Given the description of an element on the screen output the (x, y) to click on. 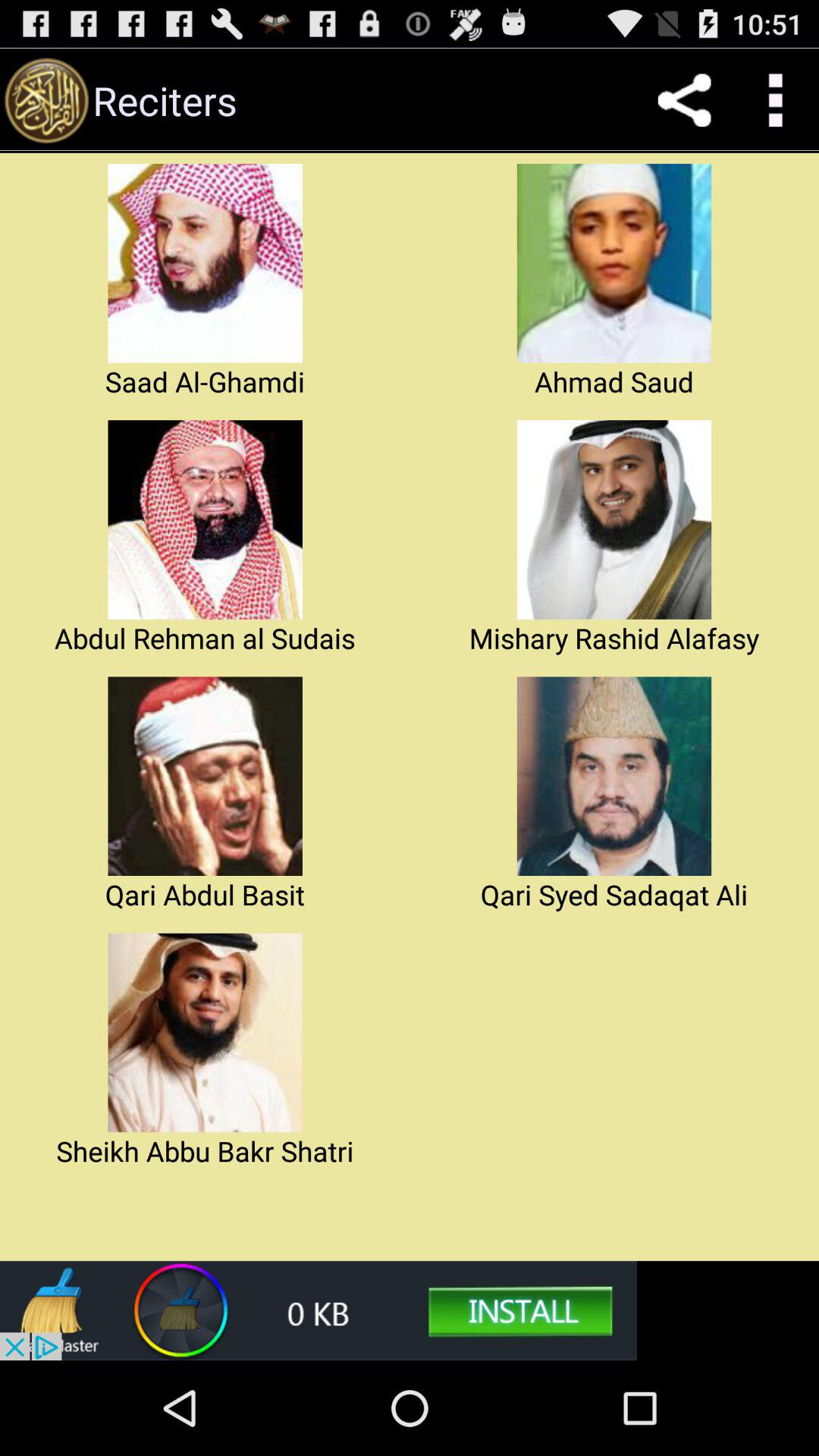
select the photo of qari syed sadaqat ali (614, 776)
select the image which is above qari abdul basit (205, 776)
click on the icon which is right to share icon (774, 99)
select the reciters icon (46, 99)
select the photo of ahmad saud (614, 262)
